Given the description of an element on the screen output the (x, y) to click on. 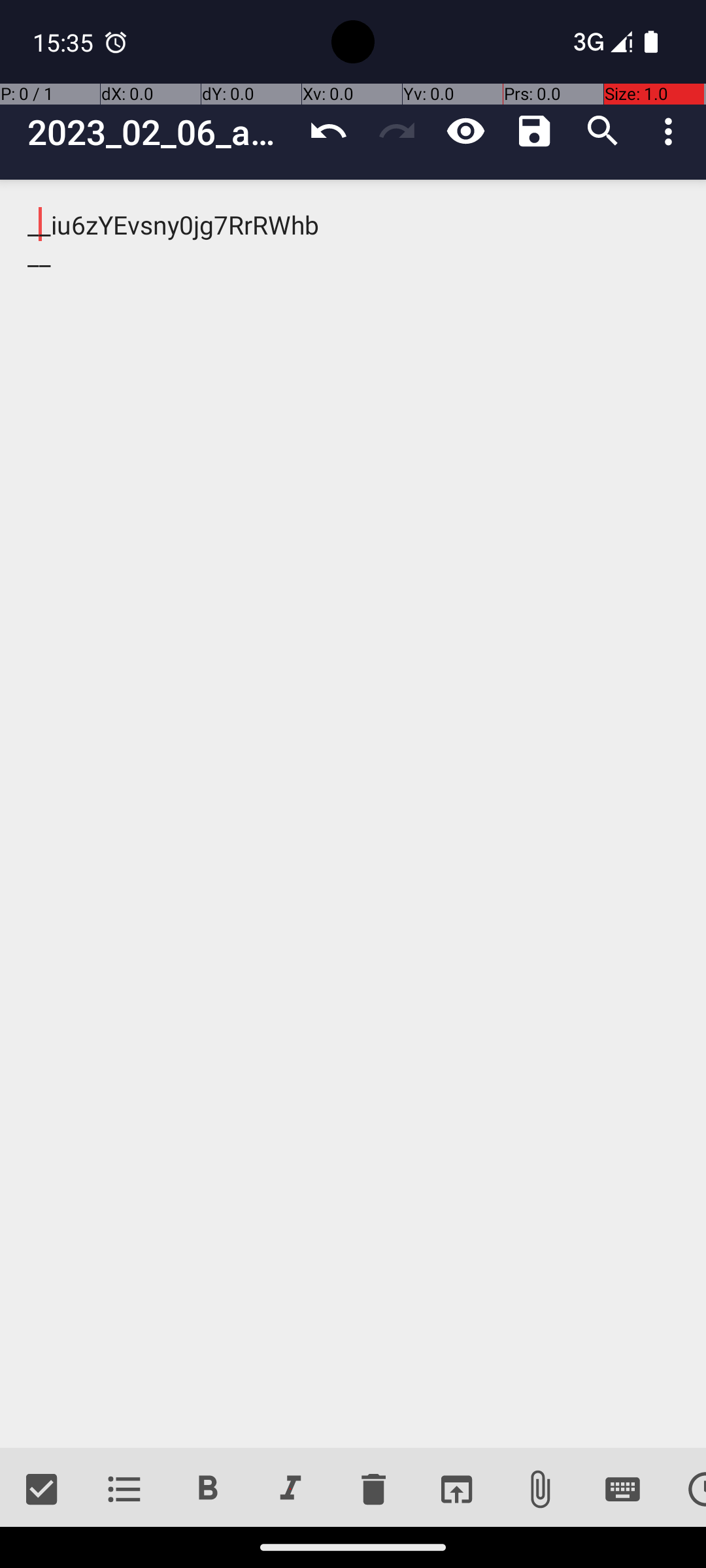
2023_02_06_april_workout_routine Element type: android.widget.TextView (160, 131)
__iu6zYEvsny0jg7RrRWhb
__ Element type: android.widget.EditText (353, 813)
